Given the description of an element on the screen output the (x, y) to click on. 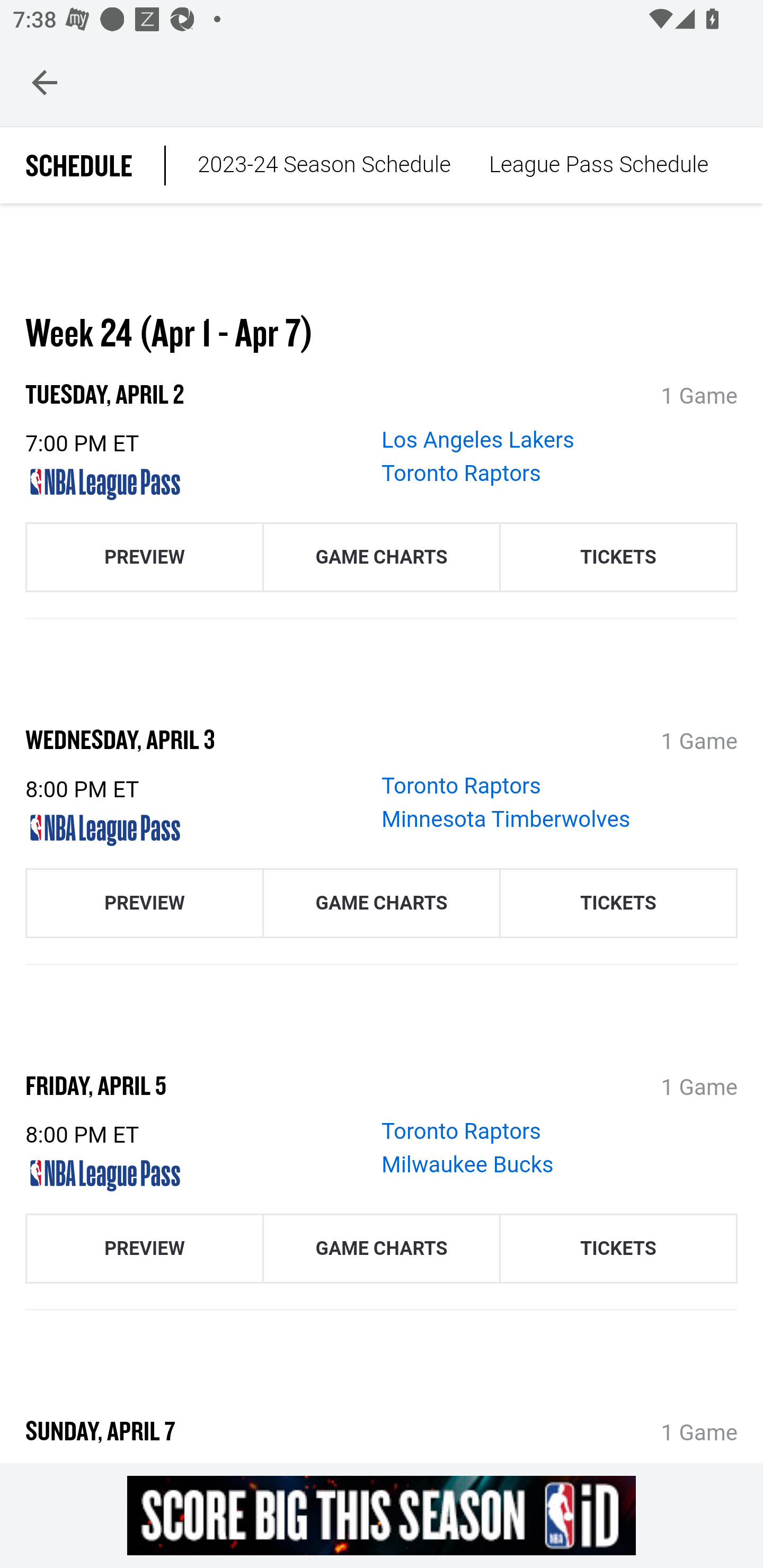
Navigate up (44, 82)
2023-24 Season Schedule (323, 166)
League Pass Schedule (598, 166)
Los Angeles Lakers (478, 441)
Toronto Raptors (461, 474)
league-pass-stream (196, 484)
PREVIEW (144, 557)
GAME CHARTS (381, 557)
TICKETS (618, 557)
Toronto Raptors (461, 786)
Minnesota Timberwolves (506, 819)
league-pass-stream (196, 829)
PREVIEW (144, 902)
GAME CHARTS (381, 902)
TICKETS (618, 902)
Toronto Raptors (461, 1132)
Milwaukee Bucks (467, 1166)
league-pass-stream (196, 1176)
PREVIEW (144, 1249)
GAME CHARTS (381, 1249)
TICKETS (618, 1249)
g5nqqygr7owph (381, 1515)
